Given the description of an element on the screen output the (x, y) to click on. 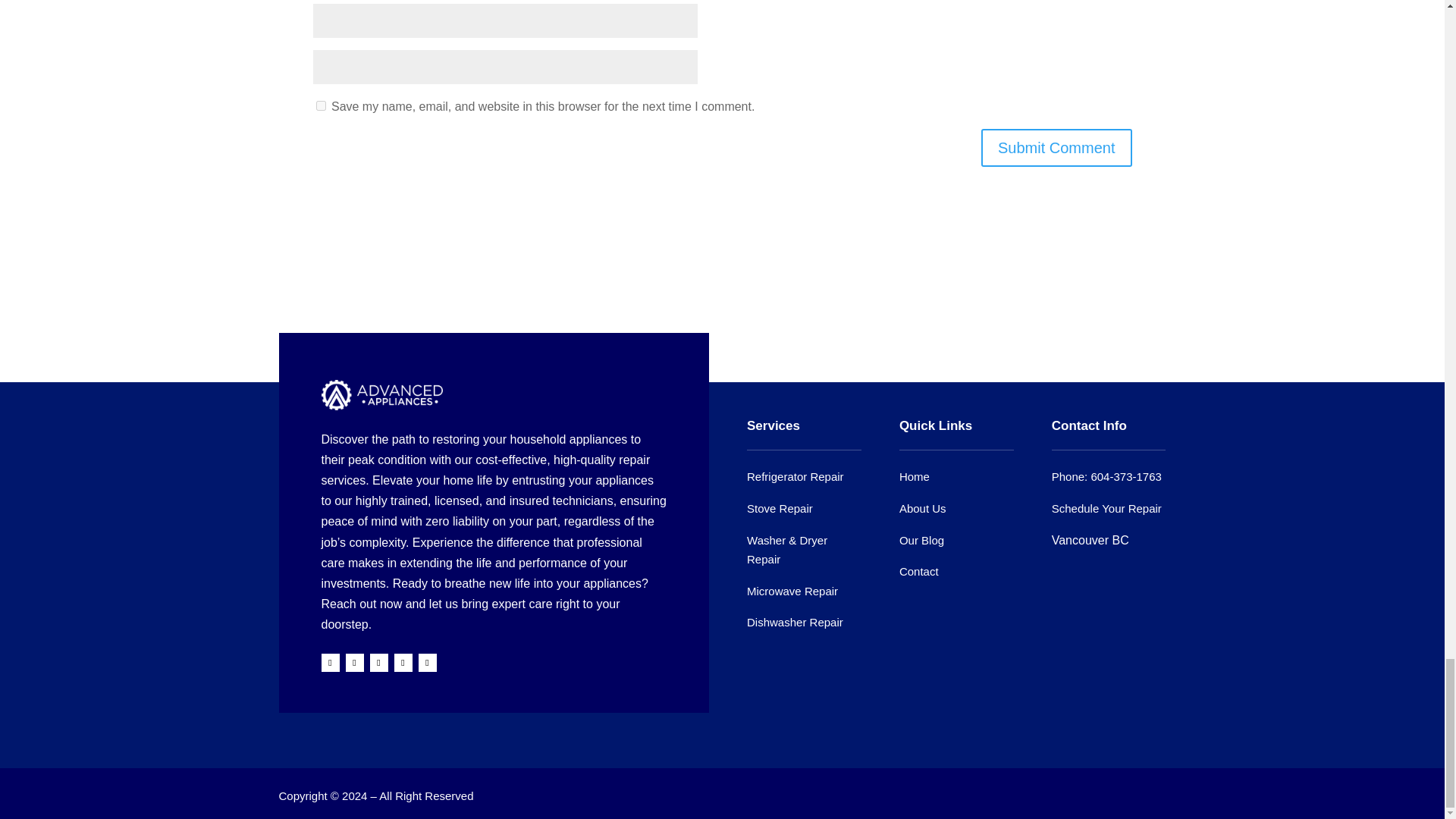
Follow on Instagram (427, 662)
Follow on Facebook (330, 662)
Follow on Vimeo (378, 662)
Appliance Repair Vancouver  (381, 395)
Submit Comment (1056, 147)
yes (319, 105)
Follow on tumblr (403, 662)
Follow on X (355, 662)
